Given the description of an element on the screen output the (x, y) to click on. 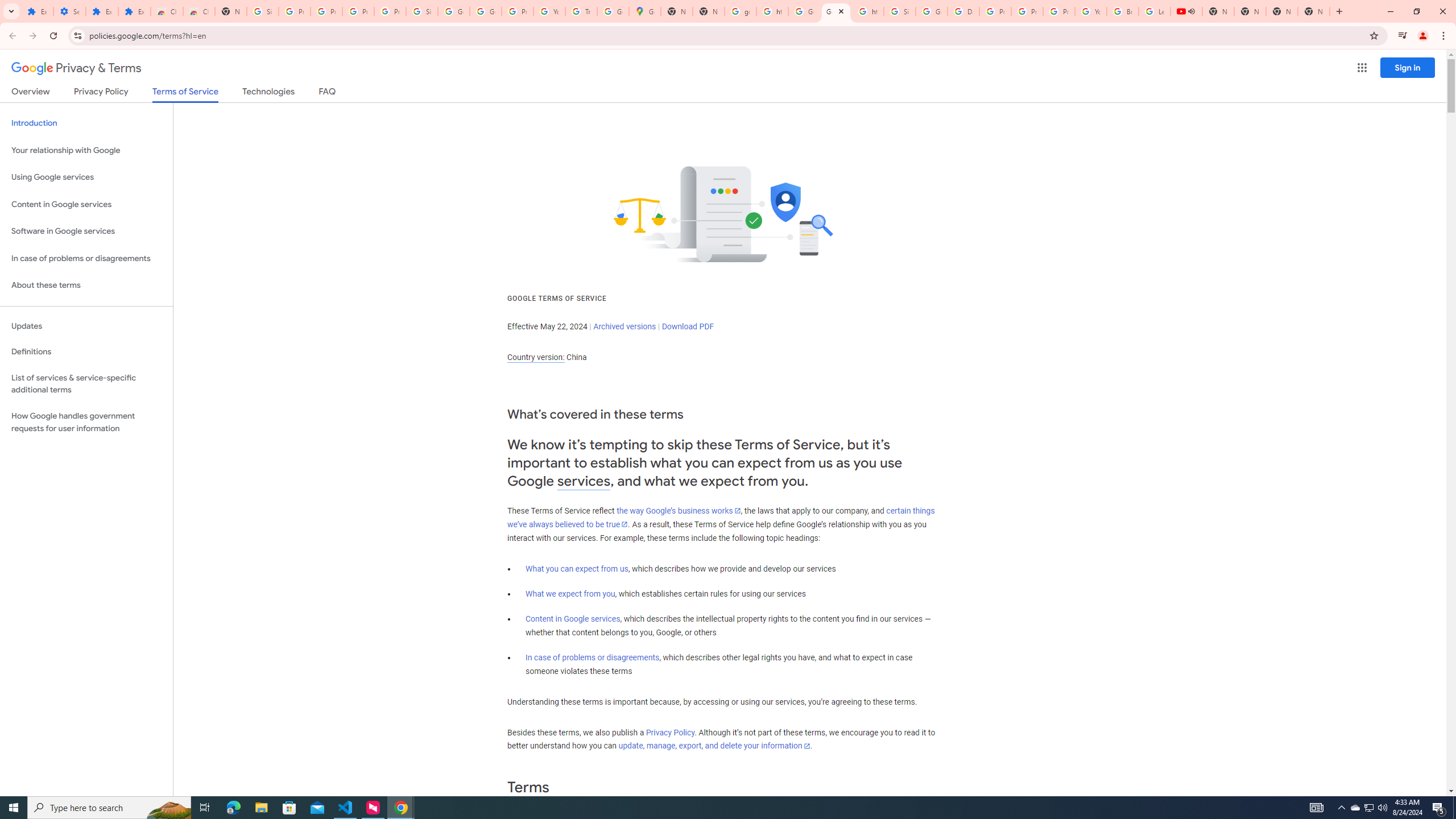
Archived versions (624, 326)
https://scholar.google.com/ (772, 11)
Extensions (101, 11)
Download PDF (687, 326)
About these terms (86, 284)
